Given the description of an element on the screen output the (x, y) to click on. 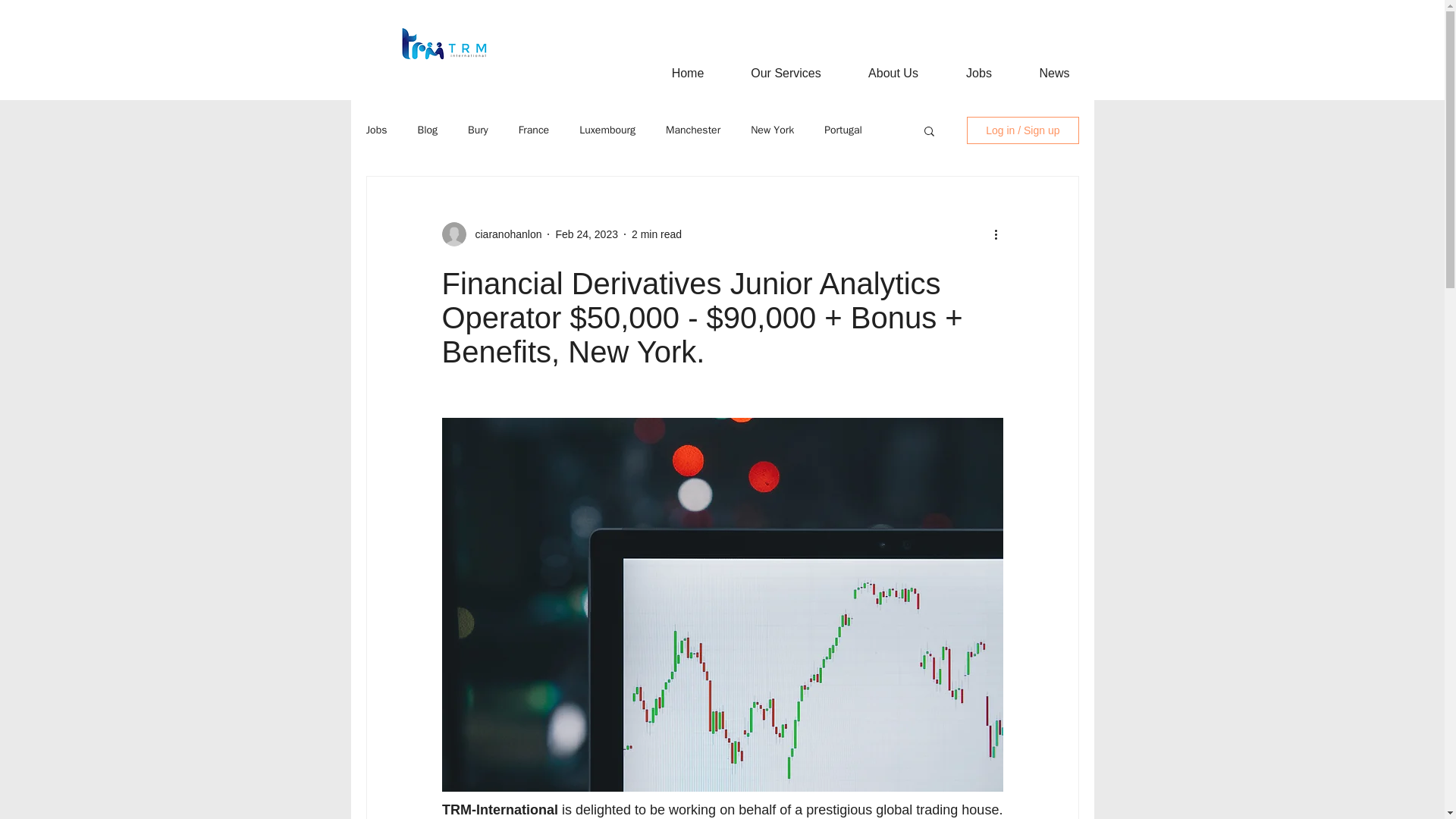
News (1054, 72)
Jobs (978, 72)
Blog (427, 130)
Bury (477, 130)
Manchester (692, 130)
Luxembourg (606, 130)
Portugal (842, 130)
France (534, 130)
Home (686, 72)
Feb 24, 2023 (585, 233)
